Given the description of an element on the screen output the (x, y) to click on. 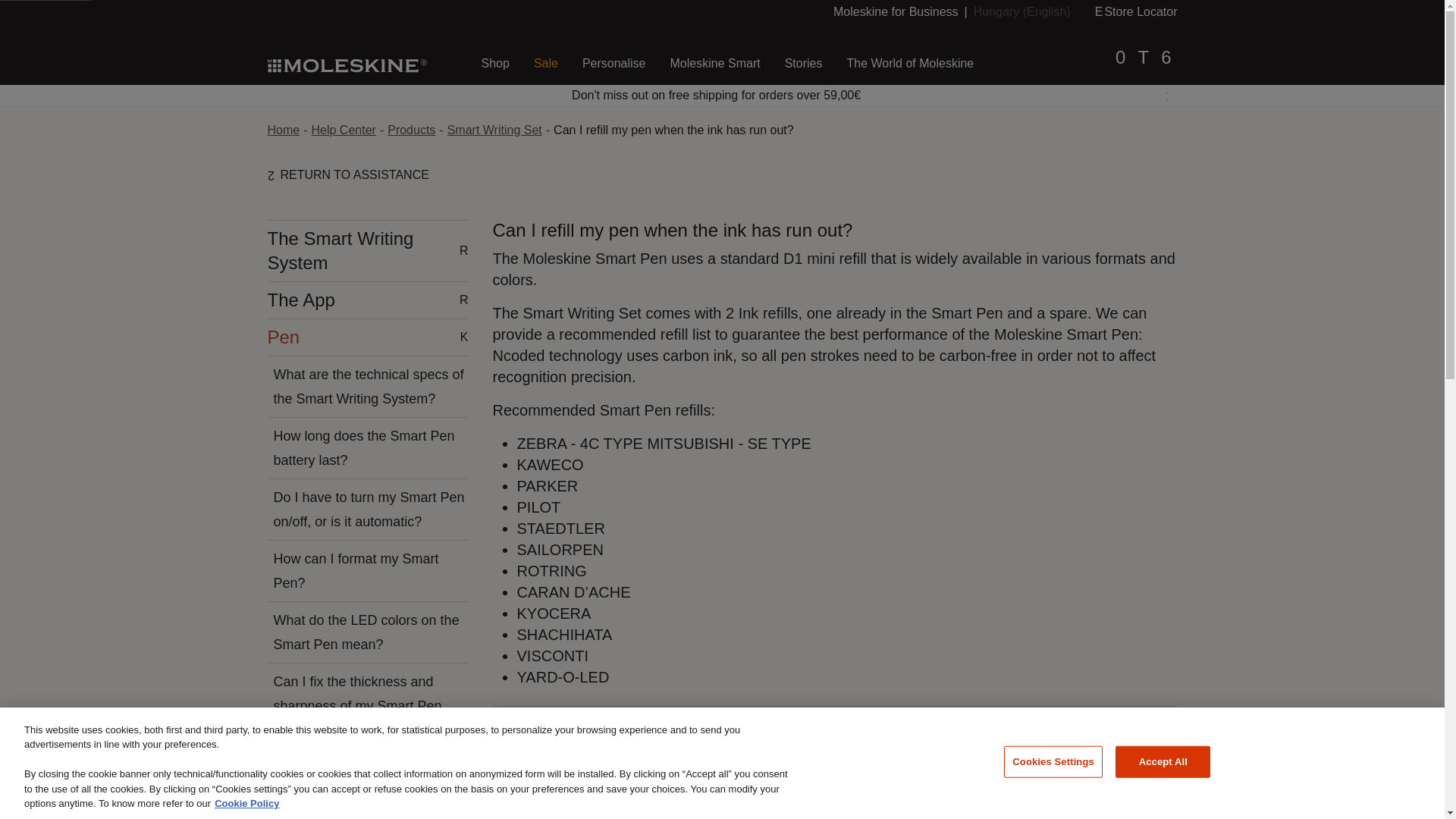
Home (282, 130)
Can I refill my pen when the ink has run out? (673, 130)
Moleskine Home (346, 64)
Smart Writing Set (494, 63)
Help Center (493, 130)
Store Locator (343, 130)
Choose your country (1135, 11)
Moleskine for Business (1022, 11)
Products (895, 11)
